Given the description of an element on the screen output the (x, y) to click on. 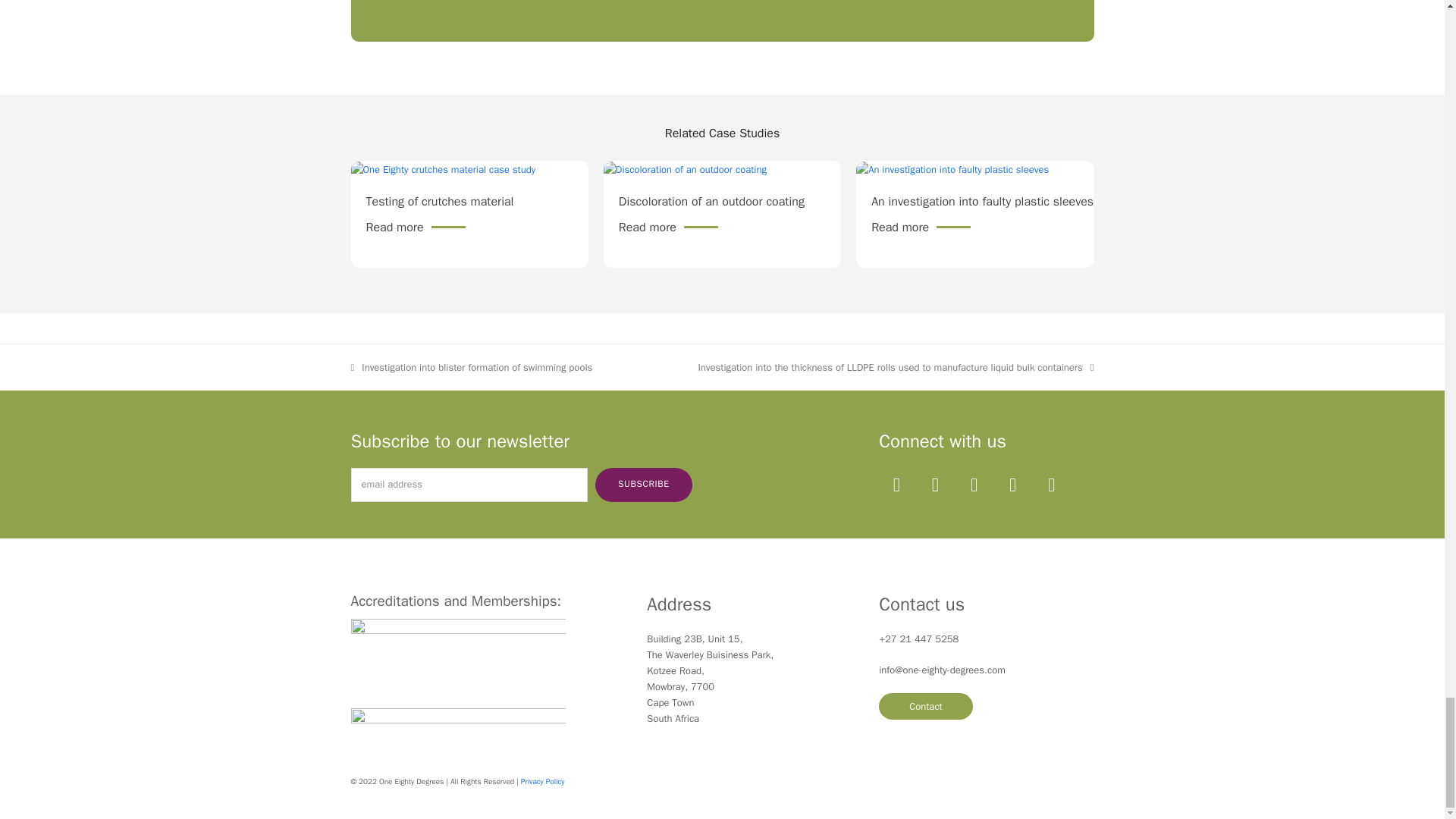
Facebook (934, 484)
Whatsapp (1050, 484)
Twitter (896, 484)
Youtube (973, 484)
LinkedIn (1012, 484)
